Given the description of an element on the screen output the (x, y) to click on. 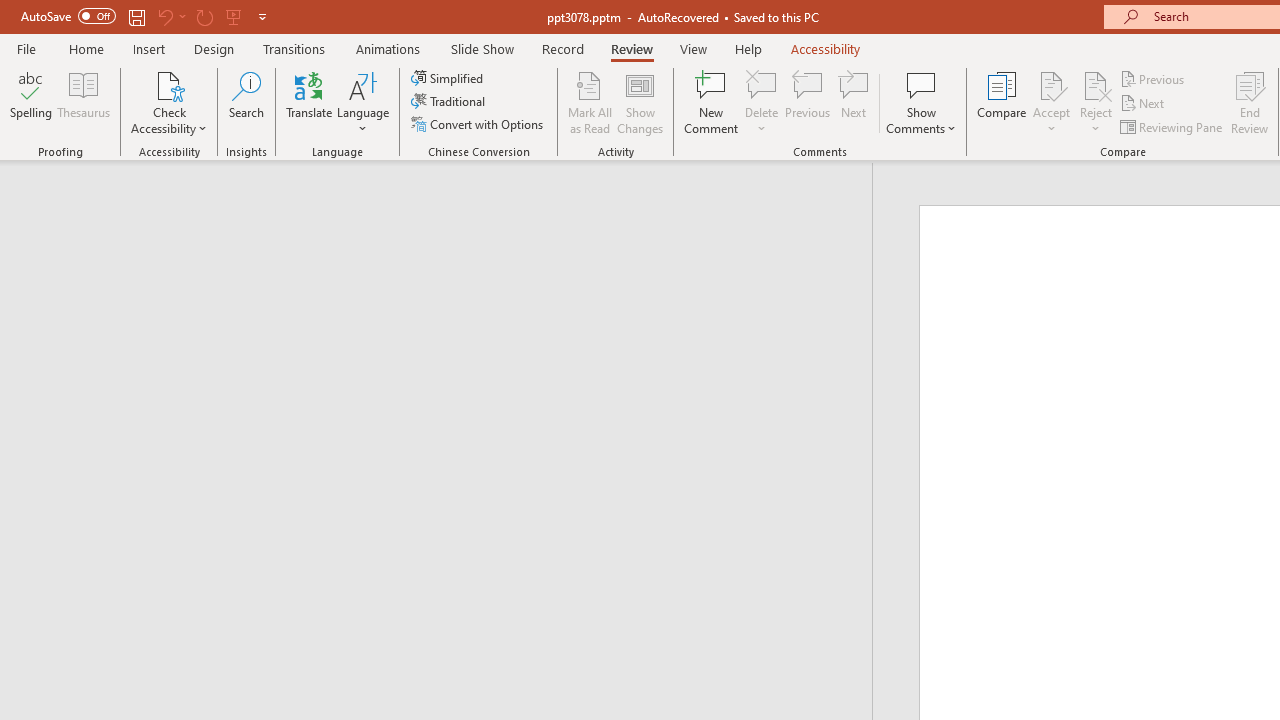
Translate (309, 102)
